Given the description of an element on the screen output the (x, y) to click on. 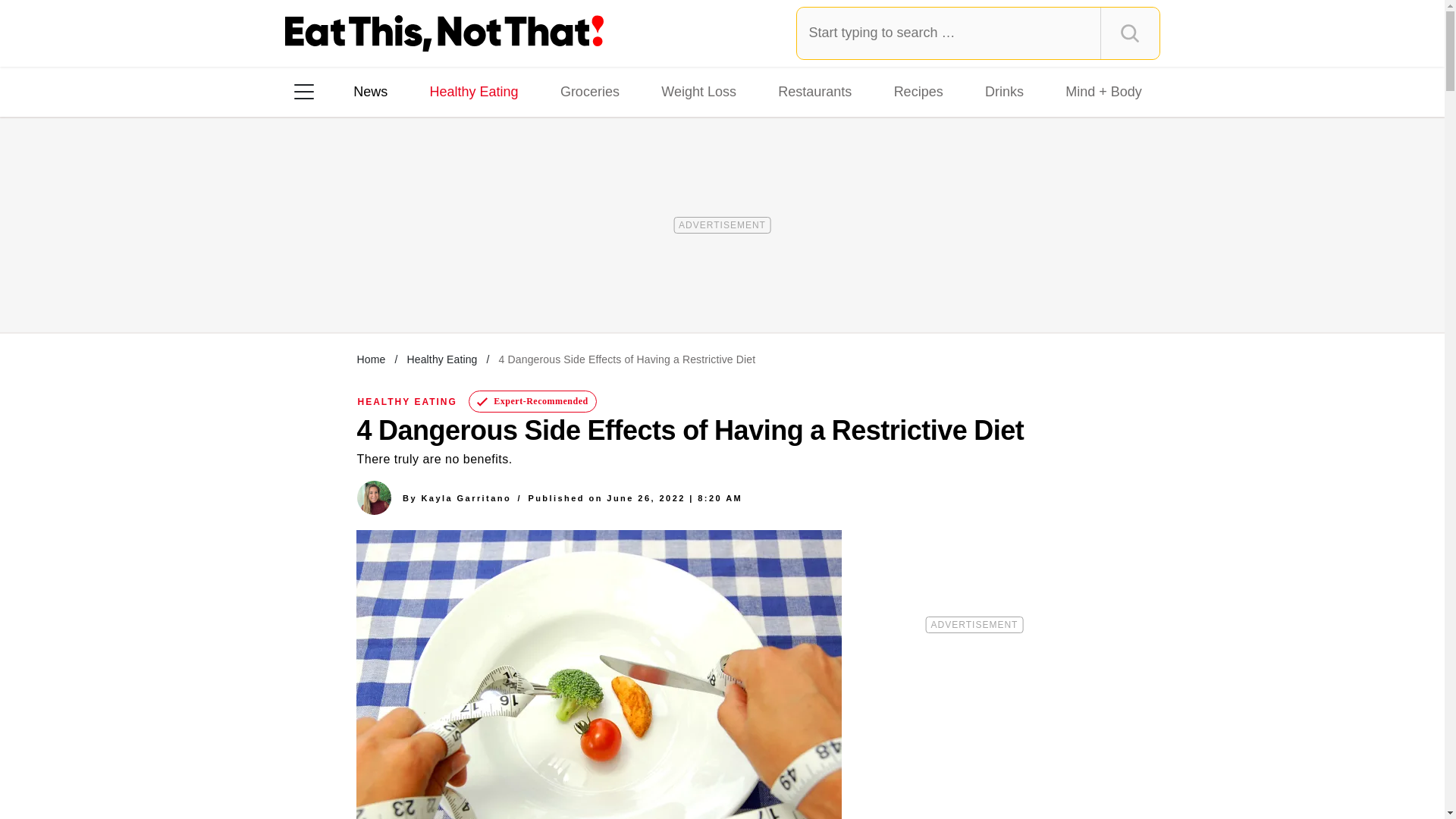
TikTok (399, 287)
Groceries (590, 91)
Type and press Enter to search (978, 32)
TikTok (399, 287)
Facebook (314, 287)
News (370, 91)
Expert-Recommended (532, 401)
Pinterest (443, 287)
Eat This Not That Homepage (444, 33)
Healthy Eating (441, 358)
Home (370, 358)
Facebook (314, 287)
Drinks (1003, 91)
HEALTHY EATING (407, 401)
Restaurants (814, 91)
